Given the description of an element on the screen output the (x, y) to click on. 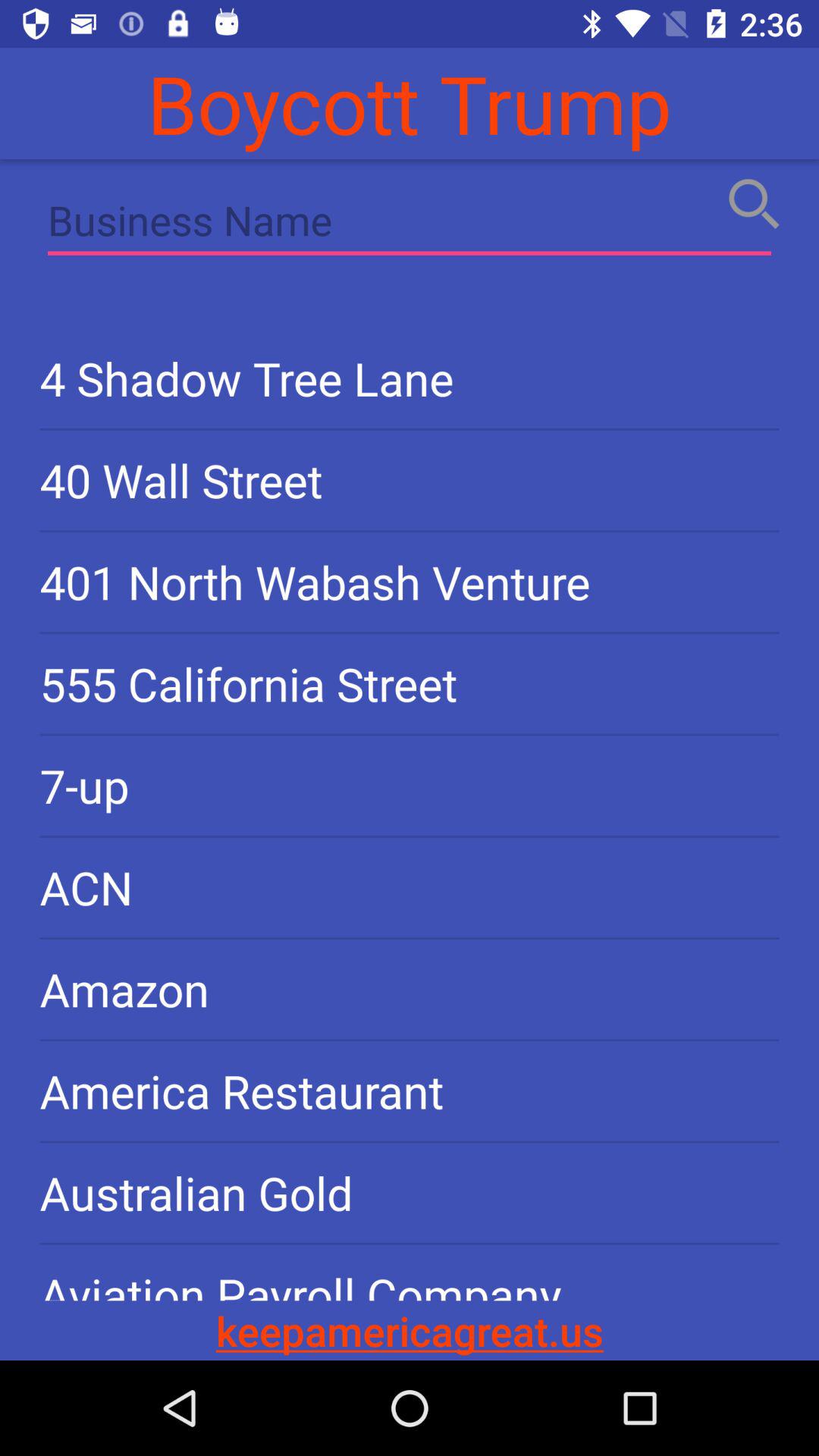
tap the icon above the 7-up (409, 683)
